Given the description of an element on the screen output the (x, y) to click on. 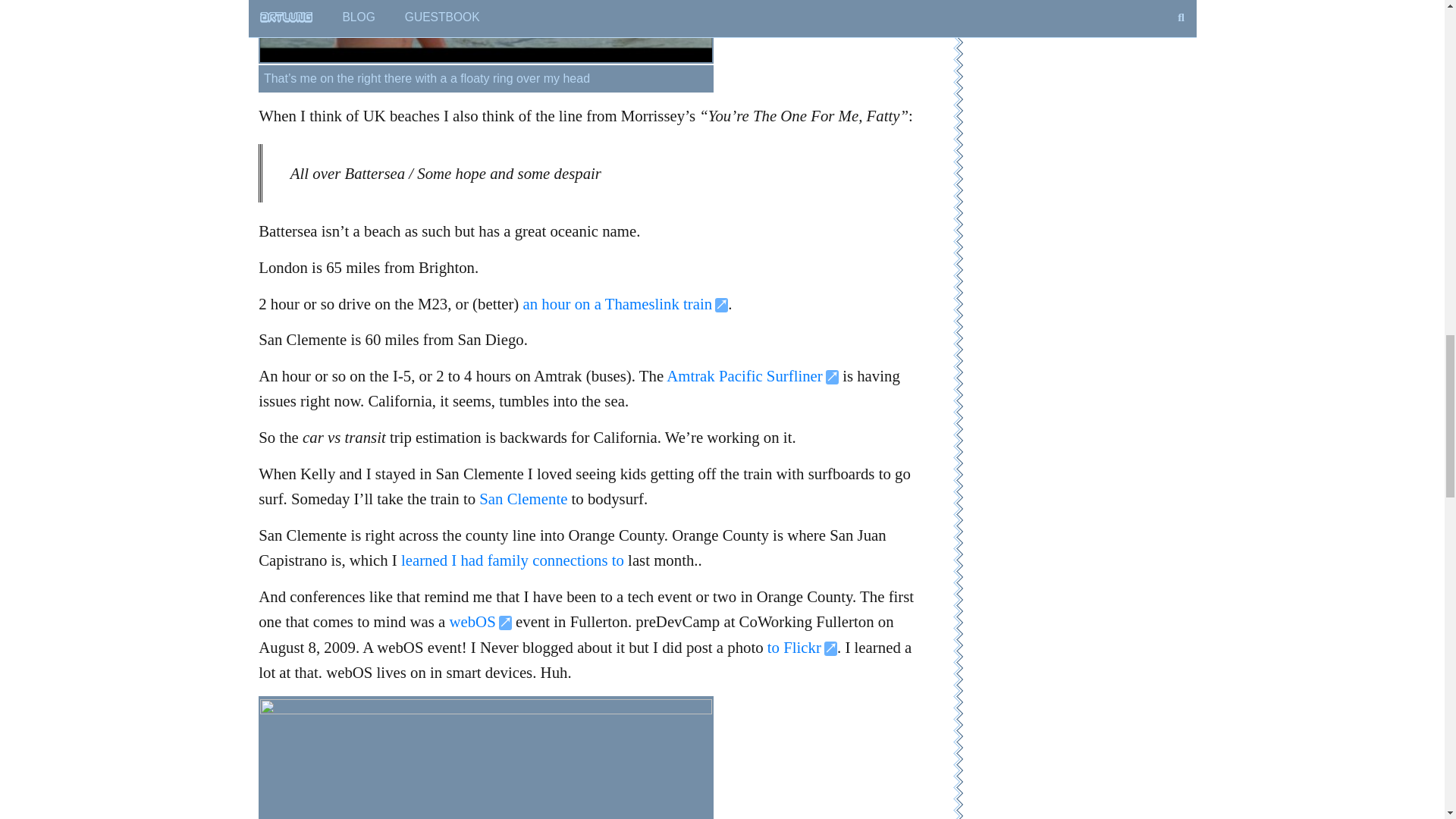
San Clemente (523, 497)
an hour on a Thameslink train (625, 303)
webOS (479, 620)
to Flickr (802, 647)
Amtrak Pacific Surfliner (752, 375)
learned I had family connections to (512, 559)
